Given the description of an element on the screen output the (x, y) to click on. 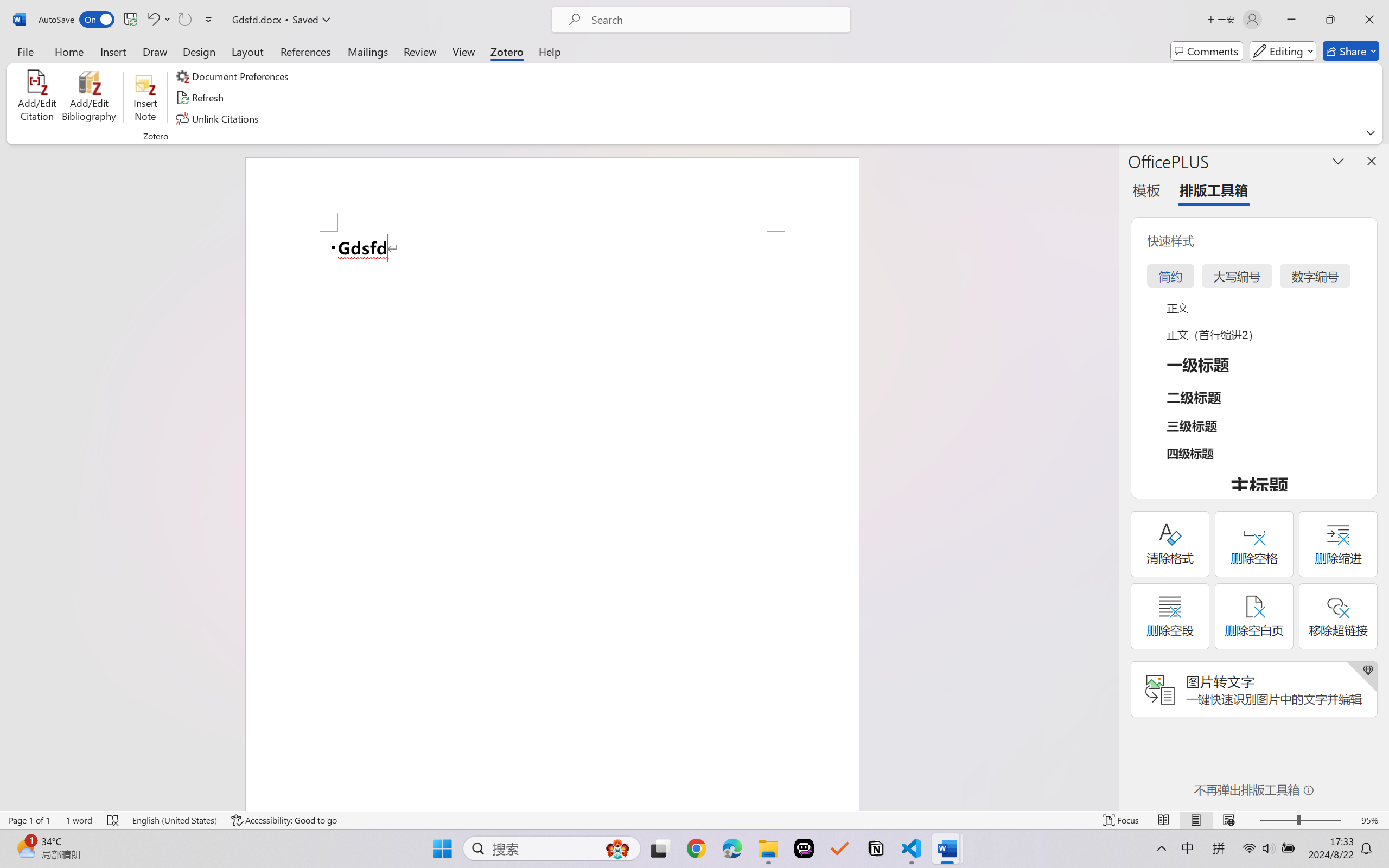
Page 1 content (552, 520)
Can't Repeat (184, 19)
Spelling and Grammar Check Errors (113, 819)
Microsoft search (715, 19)
